Given the description of an element on the screen output the (x, y) to click on. 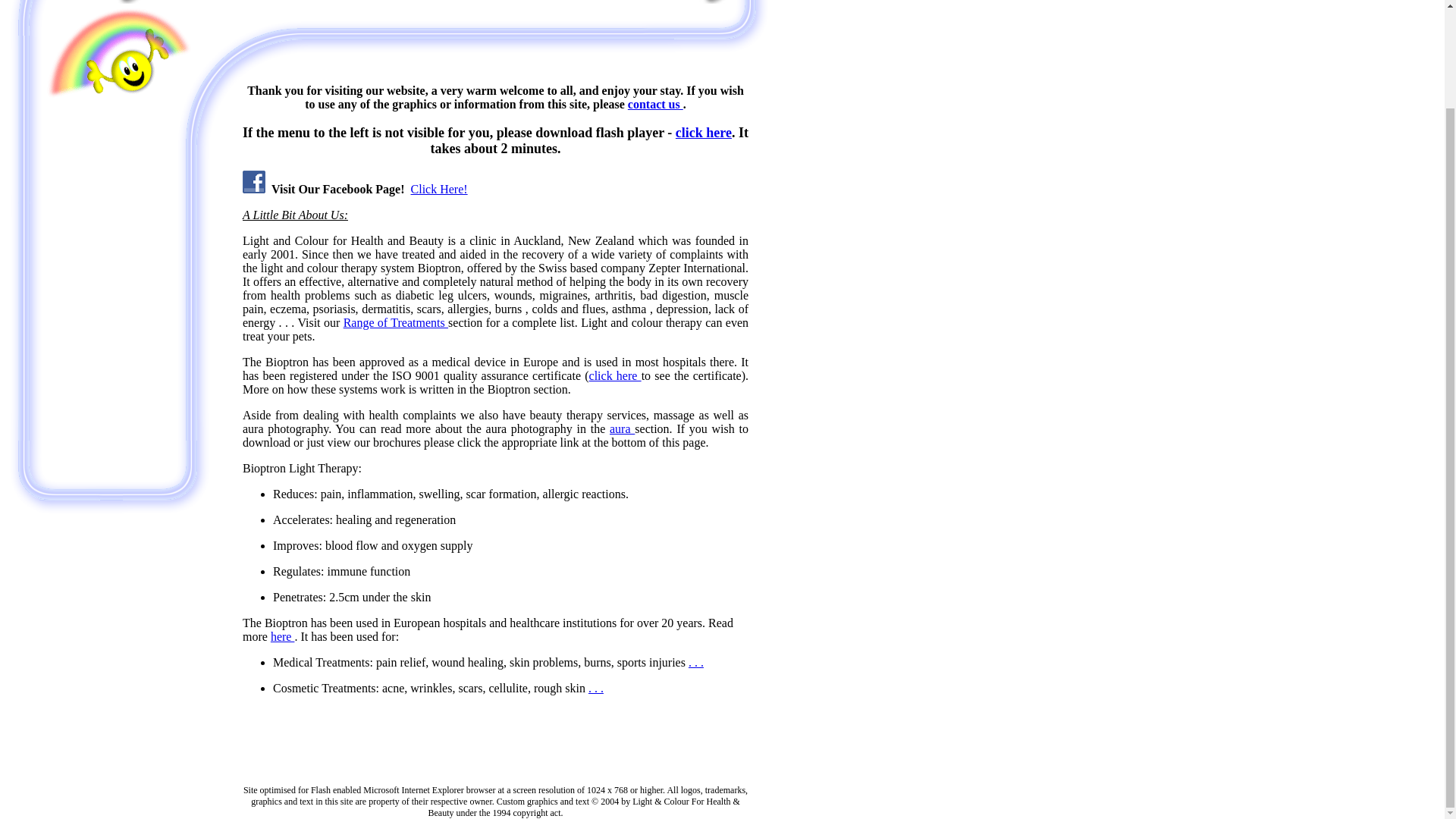
click here (703, 132)
. . . (695, 662)
. . . (596, 687)
contact us (654, 103)
aura (622, 428)
here (282, 635)
Range of Treatments (395, 322)
click here (615, 375)
Click Here! (438, 188)
